Given the description of an element on the screen output the (x, y) to click on. 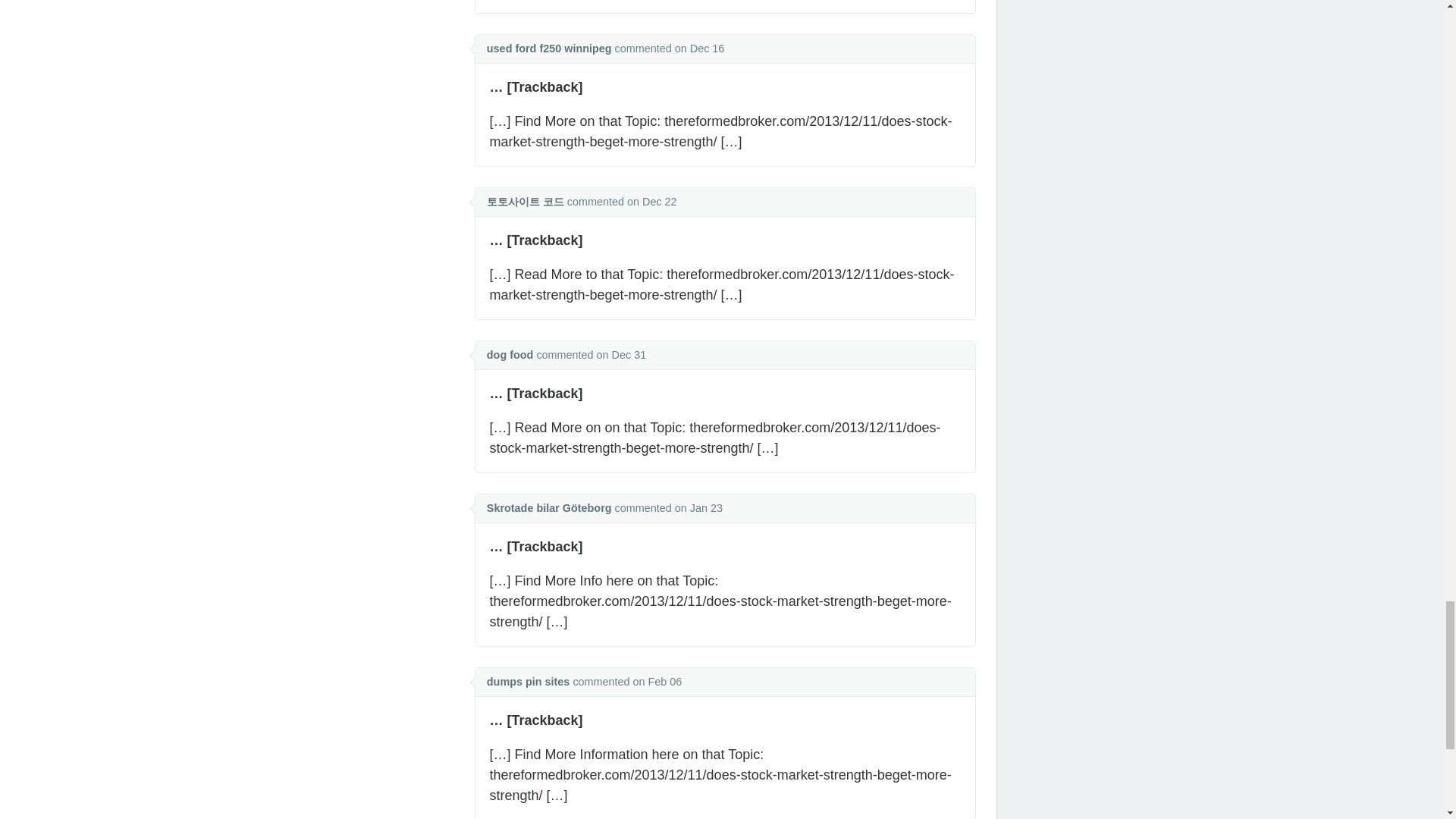
used ford f250 winnipeg (548, 48)
dumps pin sites (528, 681)
dog food (510, 354)
